Given the description of an element on the screen output the (x, y) to click on. 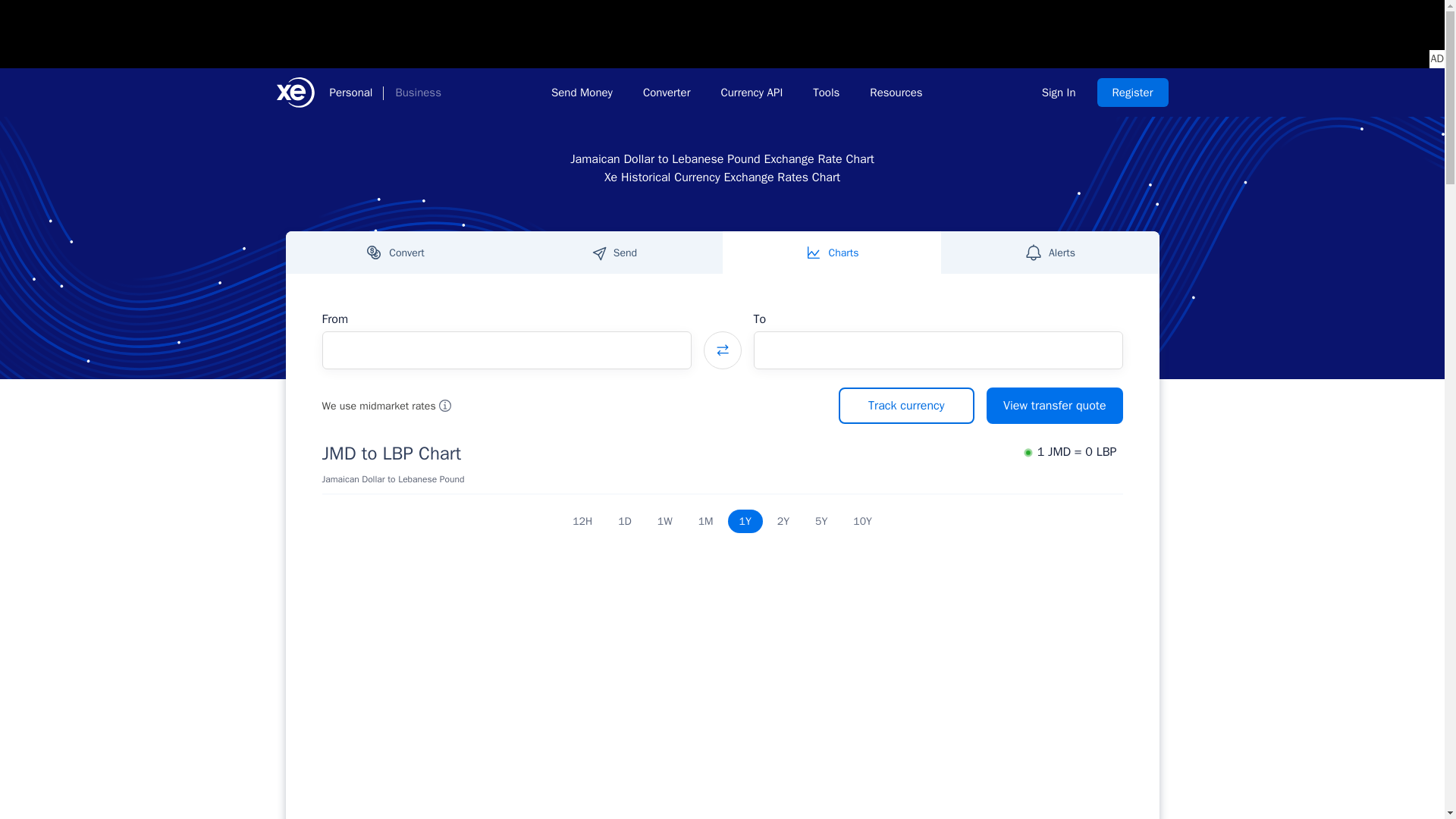
Currency API (750, 92)
Personal (350, 92)
Sign In (1058, 92)
Register (1133, 92)
Resources (895, 92)
Business (417, 92)
Send Money (581, 92)
Converter (666, 92)
Tools (825, 92)
